Given the description of an element on the screen output the (x, y) to click on. 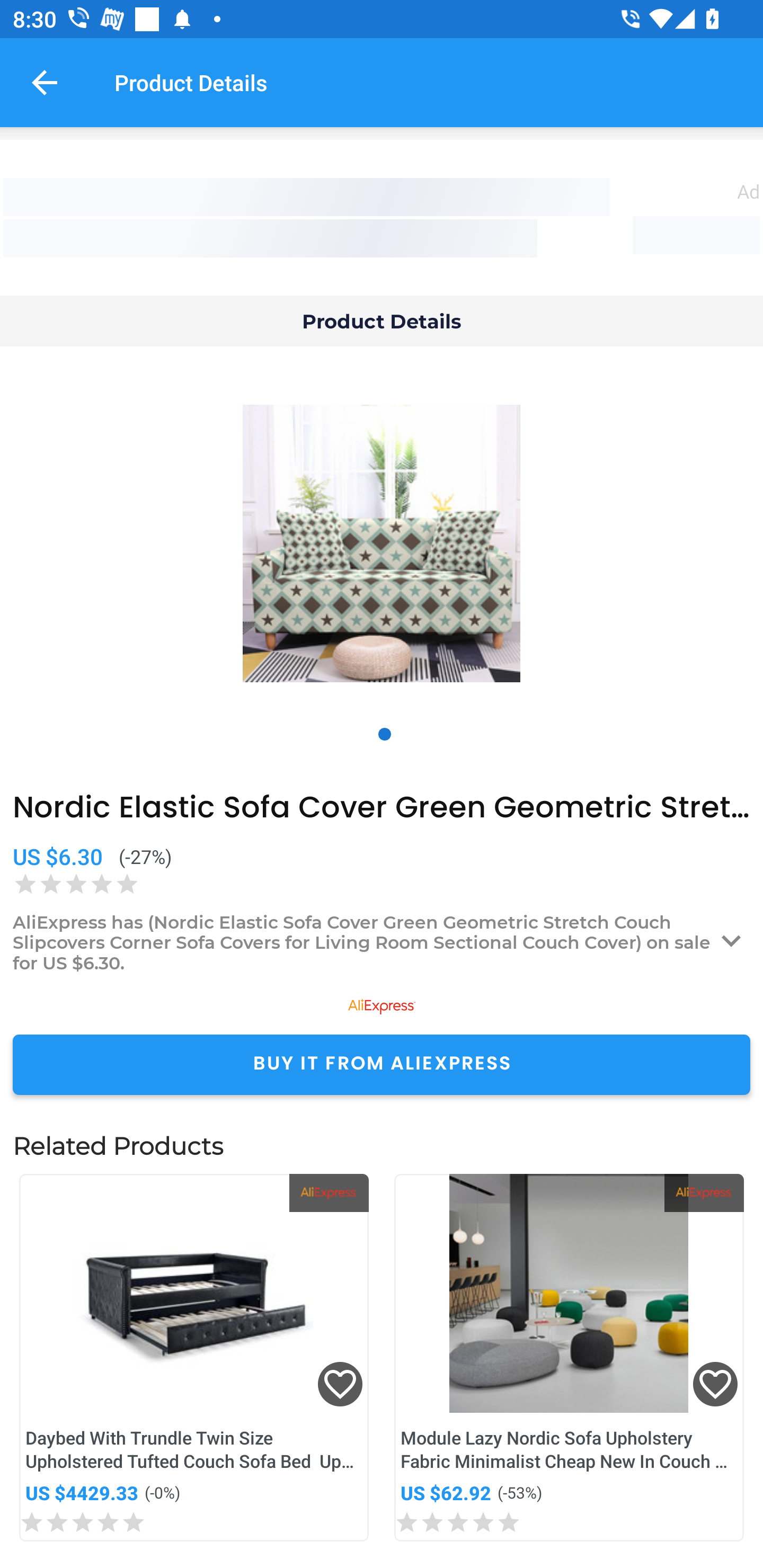
Navigate up (44, 82)
BUY IT FROM ALIEXPRESS (381, 1064)
